Given the description of an element on the screen output the (x, y) to click on. 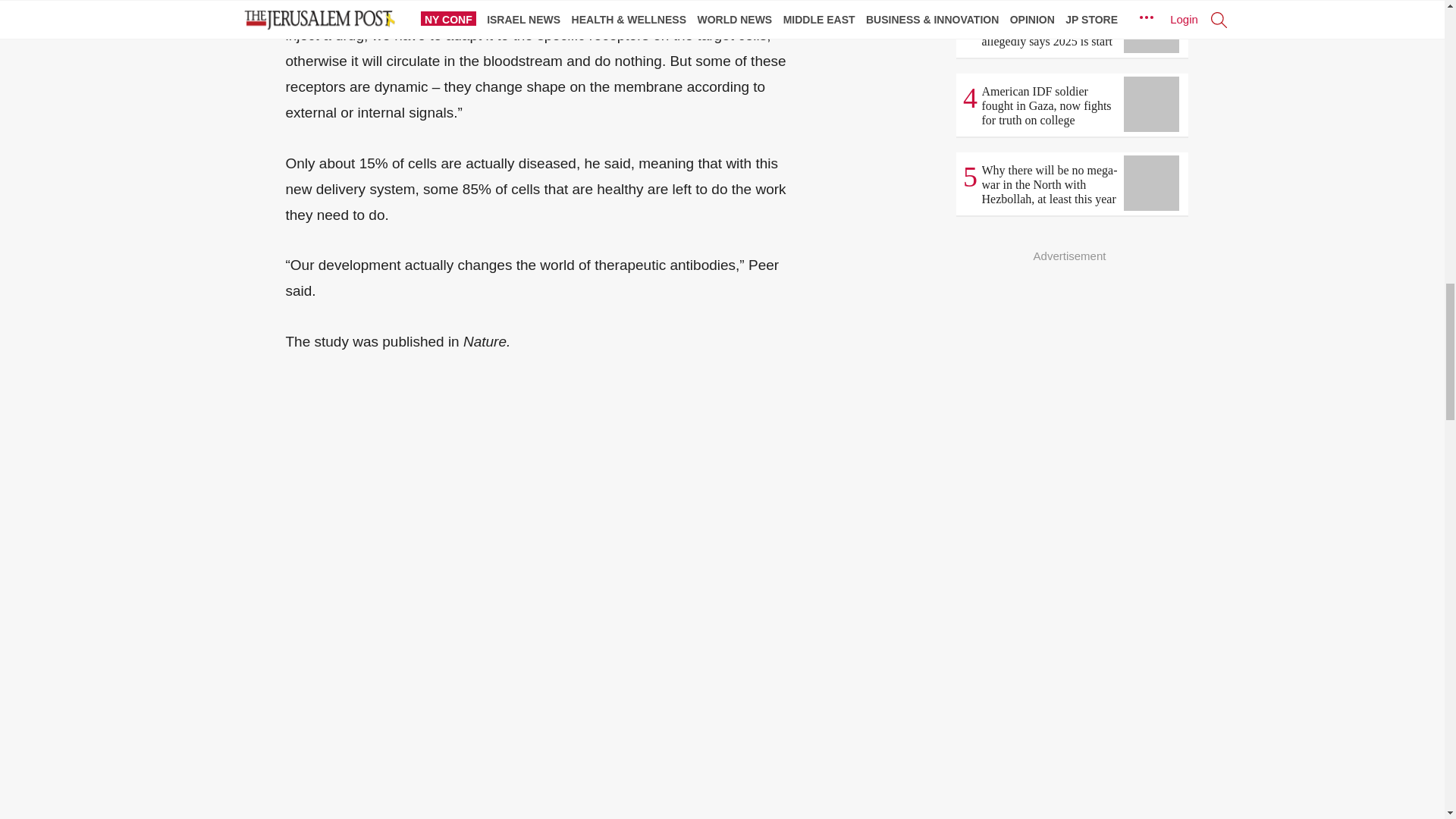
YouTube video player (497, 760)
